Given the description of an element on the screen output the (x, y) to click on. 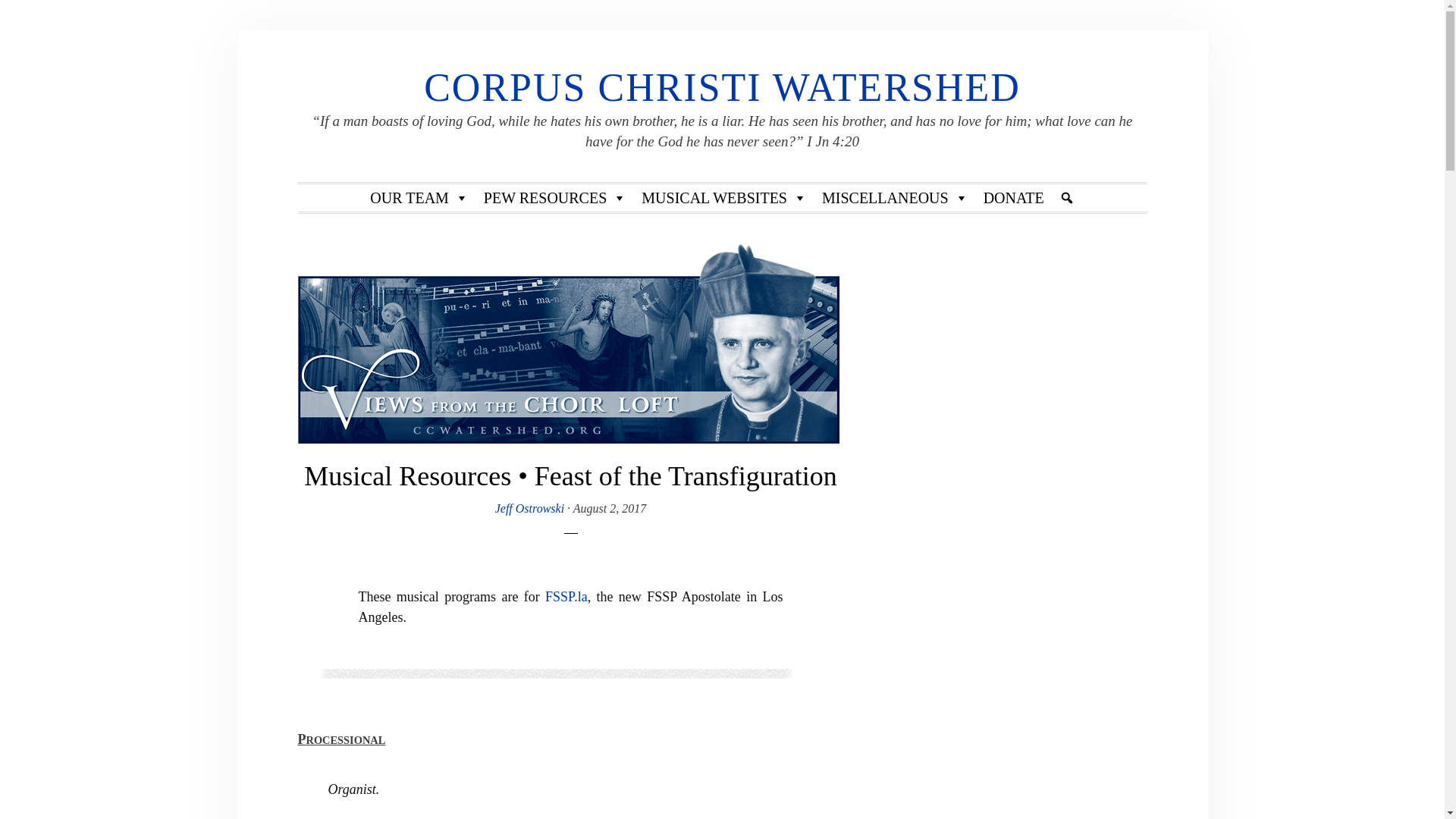
OUR TEAM (419, 197)
Jeff Ostrowski (529, 508)
FSSP.la (566, 596)
MISCELLANEOUS (894, 197)
DONATE (1013, 197)
PEW RESOURCES (554, 197)
MUSICAL WEBSITES (723, 197)
CORPUS CHRISTI WATERSHED (721, 87)
